Given the description of an element on the screen output the (x, y) to click on. 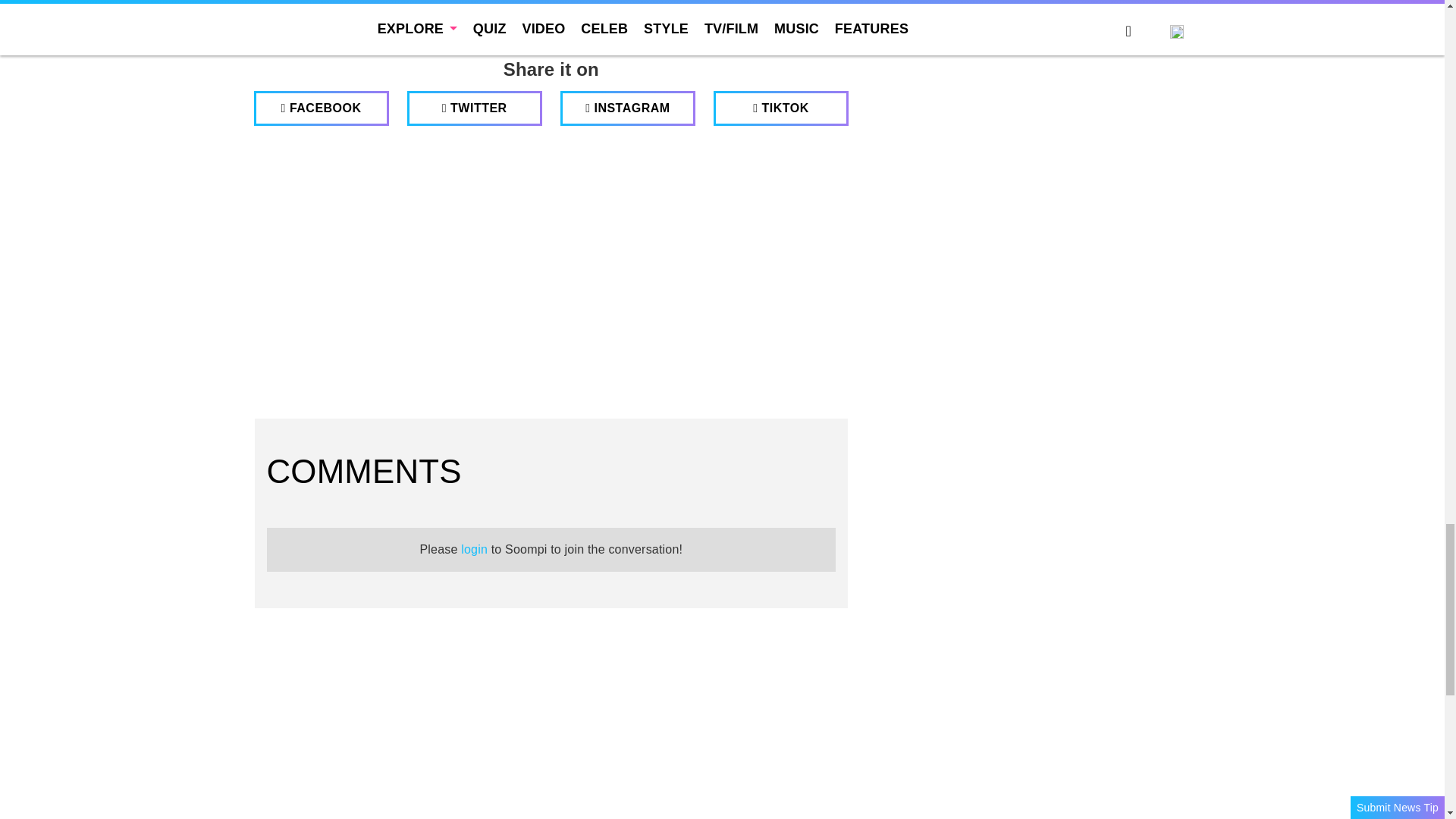
Crying (623, 5)
OMG (696, 5)
Fire (550, 5)
Heart (405, 5)
LOL (478, 5)
